Given the description of an element on the screen output the (x, y) to click on. 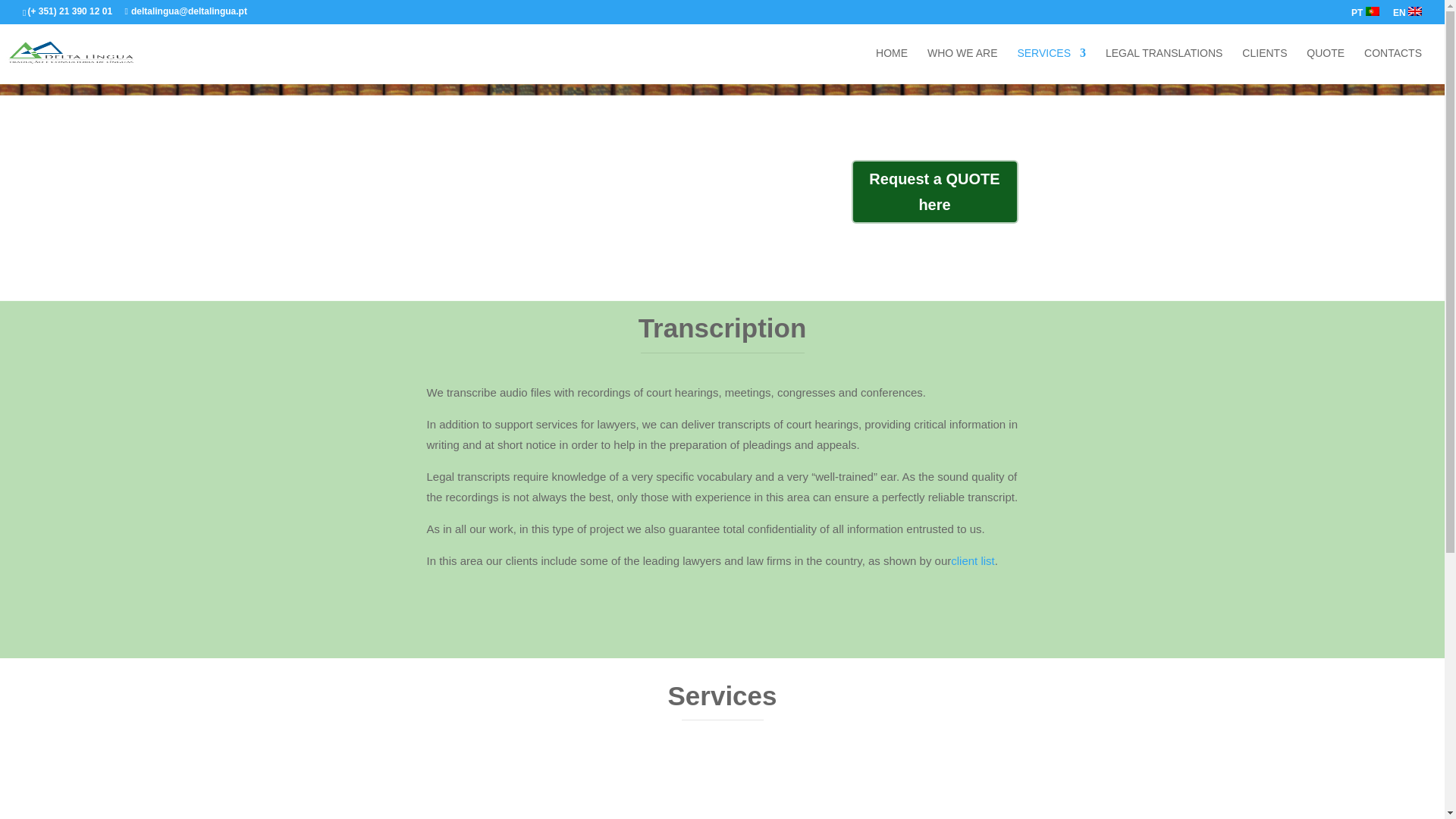
Request a QUOTE here (933, 191)
LEGAL TRANSLATIONS (1164, 65)
CONTACTS (1393, 65)
CLIENTS (1264, 65)
PT (1364, 15)
QUOTE (1324, 65)
HOME (891, 65)
EN (1407, 15)
SERVICES (1051, 65)
client list (972, 560)
WHO WE ARE (962, 65)
